Given the description of an element on the screen output the (x, y) to click on. 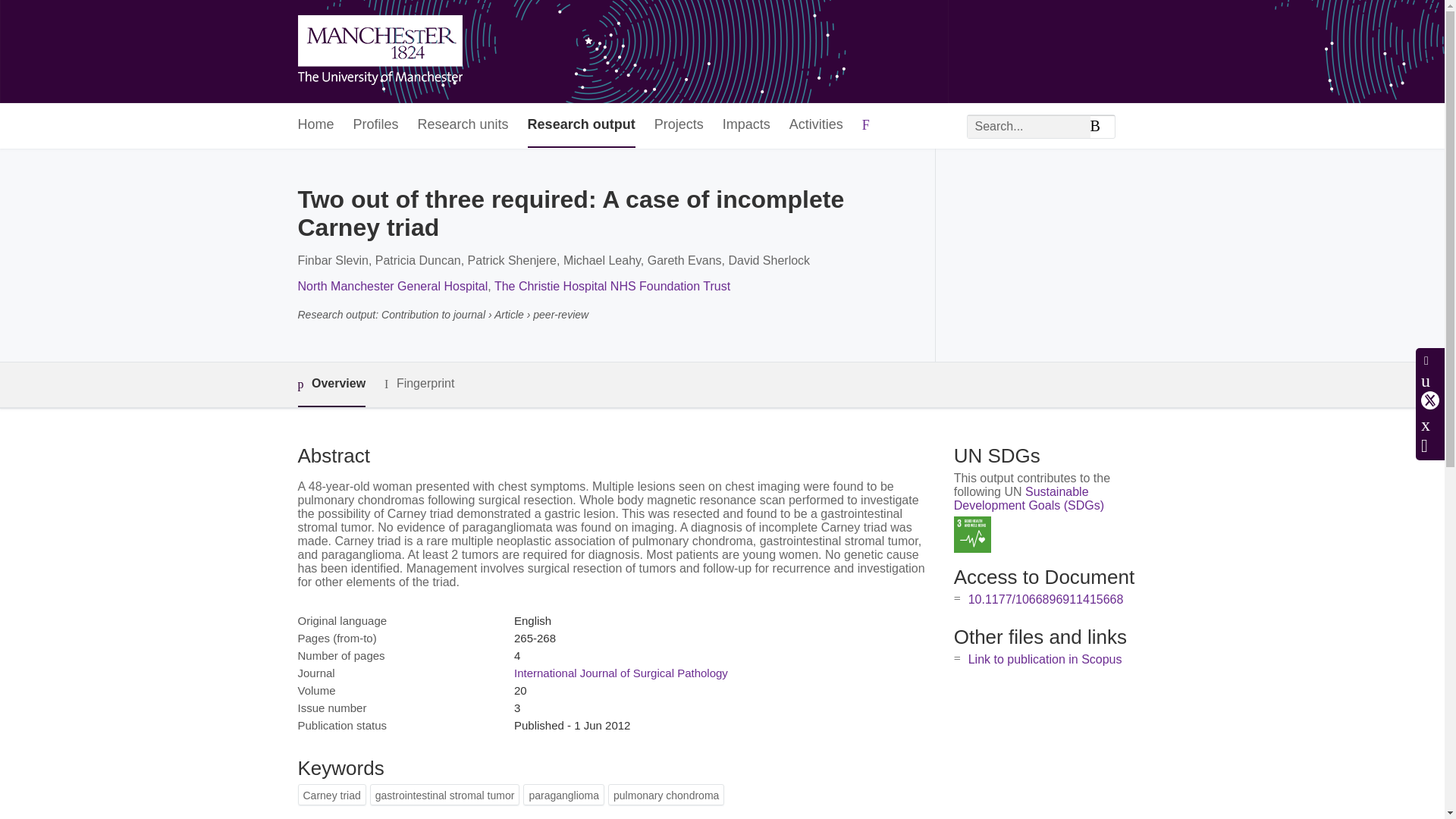
Projects (678, 125)
International Journal of Surgical Pathology (620, 672)
Research Explorer The University of Manchester Home (379, 51)
Research units (462, 125)
Fingerprint (419, 383)
Link to publication in Scopus (1045, 658)
The Christie Hospital NHS Foundation Trust (612, 286)
Overview (331, 384)
Research output (580, 125)
Impacts (746, 125)
Activities (816, 125)
SDG 3 - Good Health and Well-being (972, 534)
North Manchester General Hospital (392, 286)
Profiles (375, 125)
